Given the description of an element on the screen output the (x, y) to click on. 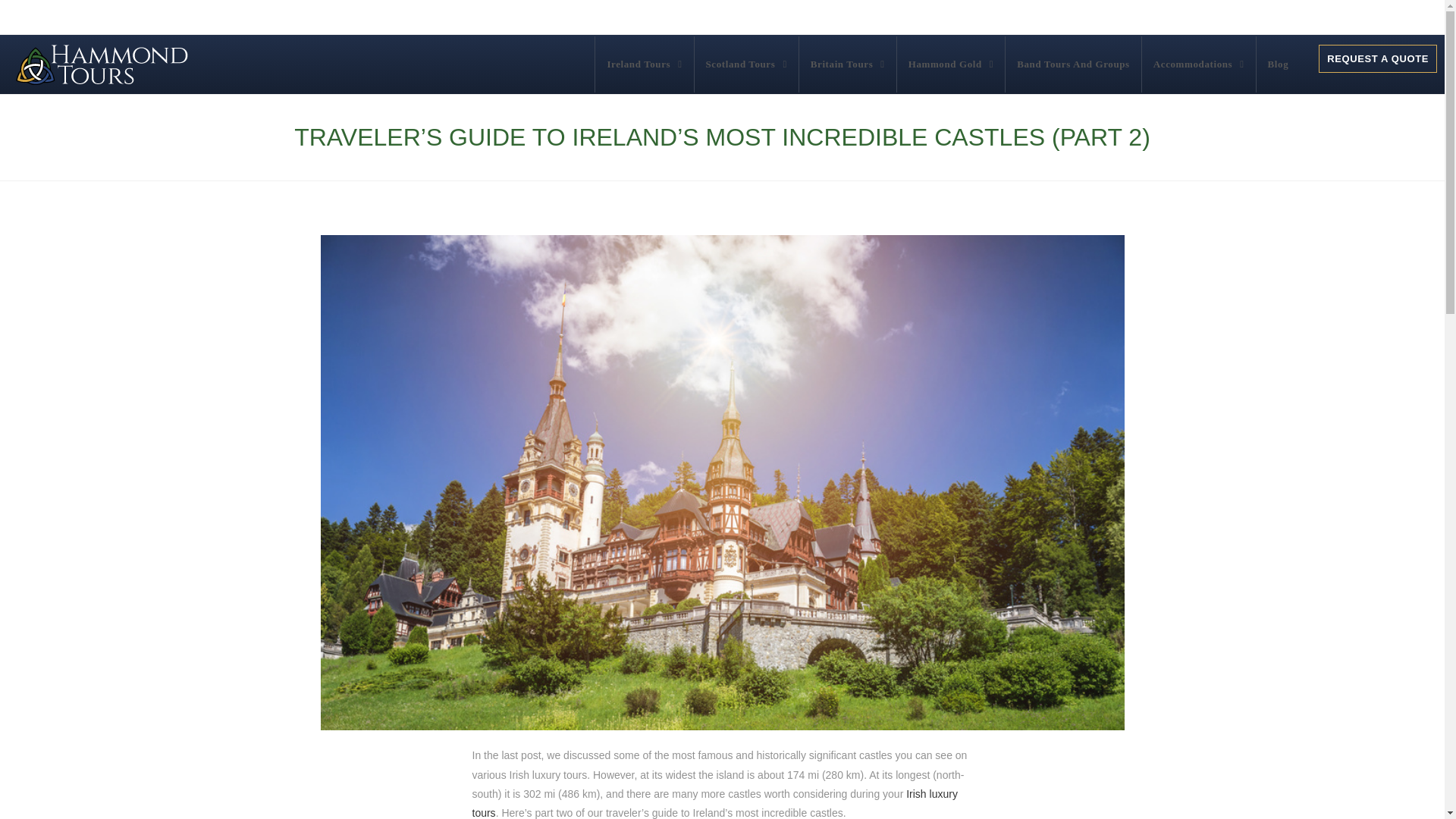
Scotland Tours (745, 64)
Call us Toll Free: 1-866-486-8772 (1336, 16)
Hammond Gold (951, 64)
Ireland Tours (644, 64)
Britain Tours (847, 64)
